Given the description of an element on the screen output the (x, y) to click on. 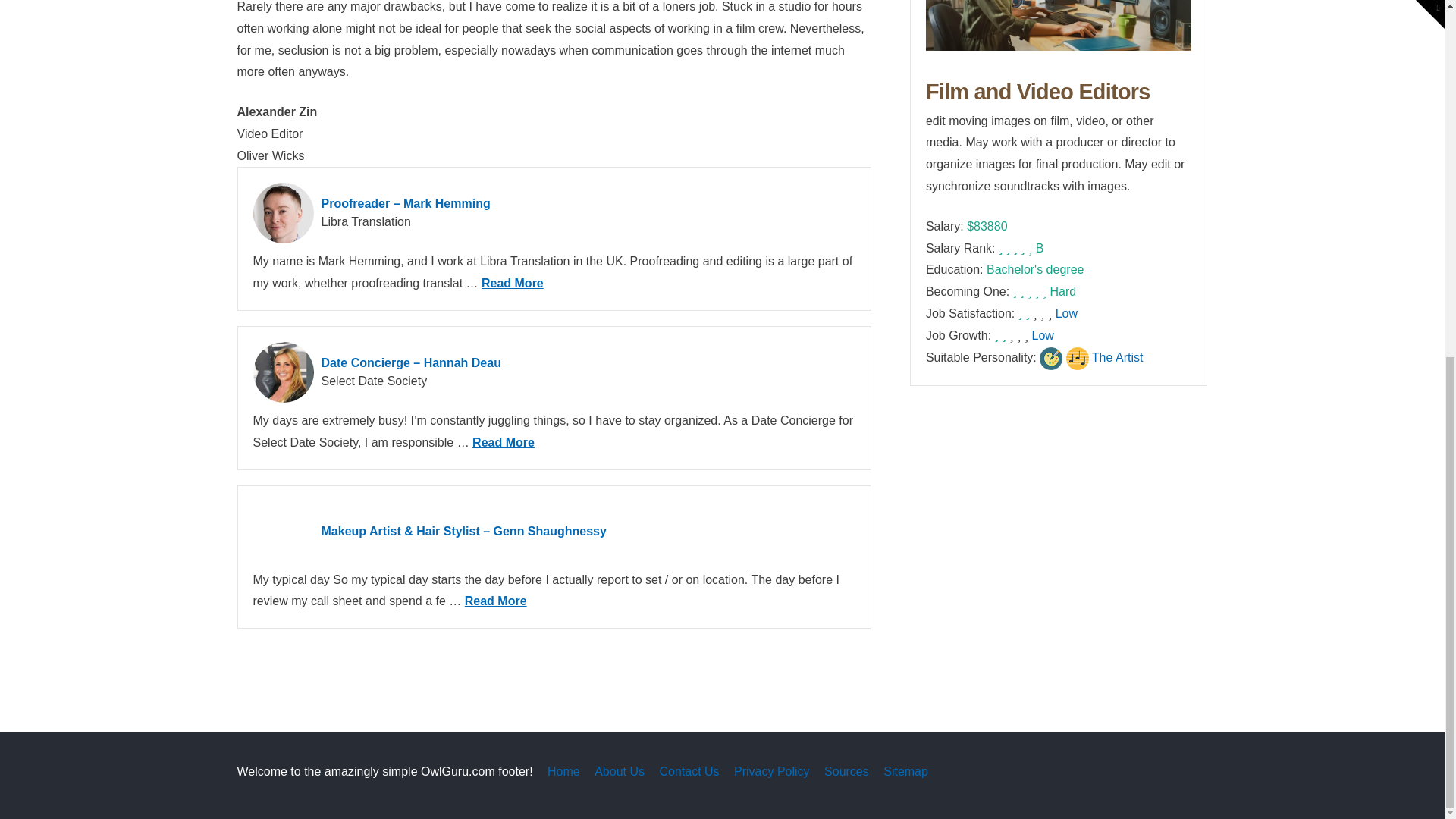
Job Growth (1043, 335)
Read More (512, 282)
The Artist (1117, 357)
Job Satisfaction (1066, 313)
